Given the description of an element on the screen output the (x, y) to click on. 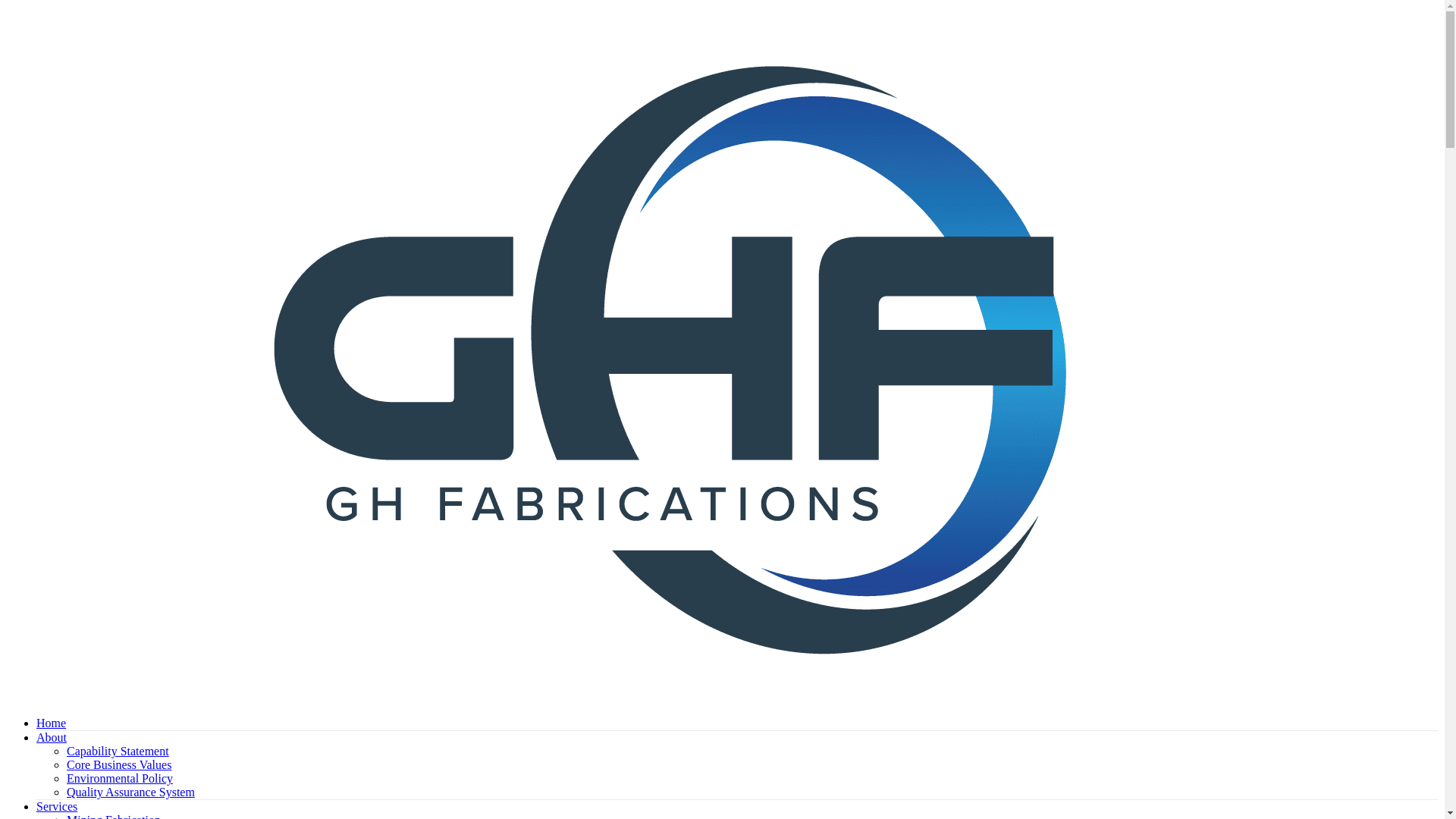
About Element type: text (51, 737)
Quality Assurance System Element type: text (130, 791)
Home Element type: text (50, 722)
Services Element type: text (56, 806)
Core Business Values Element type: text (118, 764)
Capability Statement Element type: text (117, 750)
Environmental Policy Element type: text (119, 777)
